Given the description of an element on the screen output the (x, y) to click on. 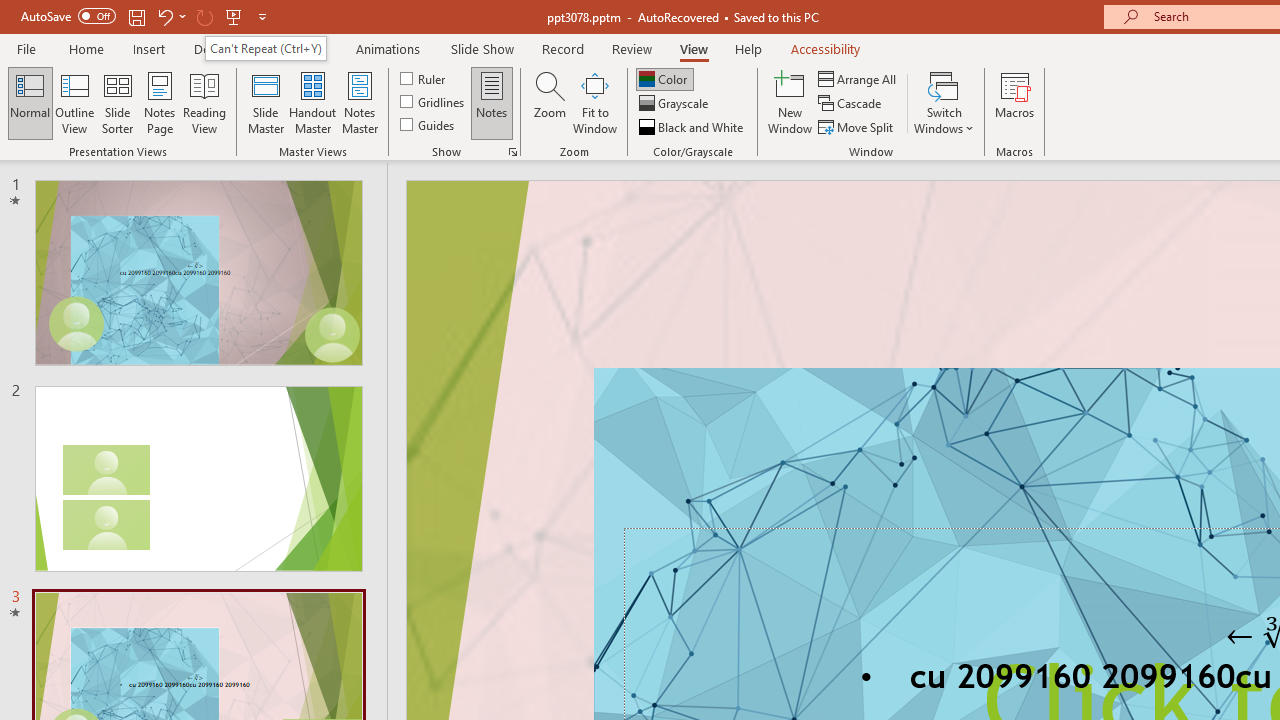
Arrange All (858, 78)
Color (664, 78)
Gridlines (433, 101)
Zoom... (549, 102)
Switch Windows (943, 102)
Notes (492, 102)
